Given the description of an element on the screen output the (x, y) to click on. 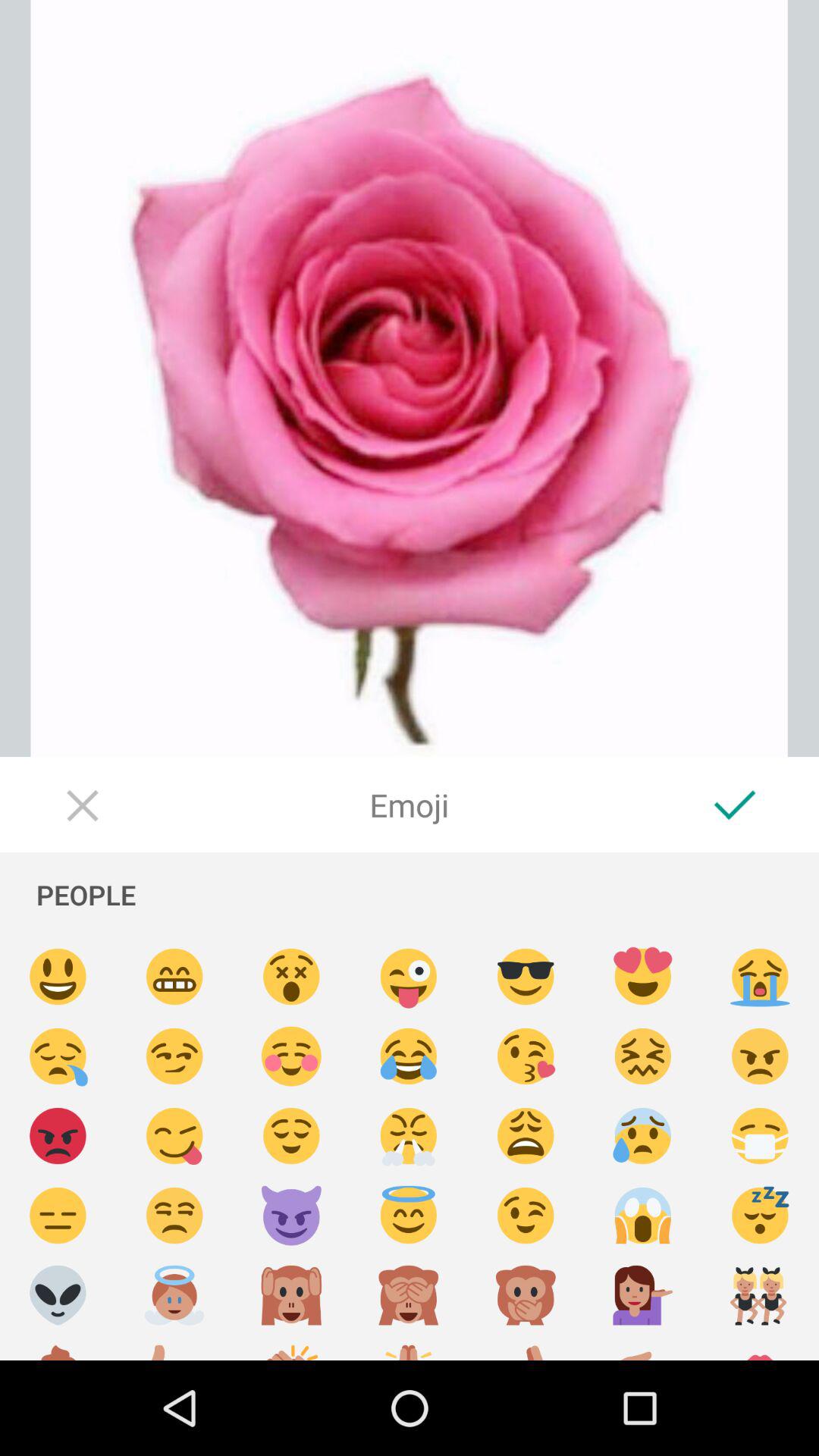
neutral face emoji (58, 1215)
